Given the description of an element on the screen output the (x, y) to click on. 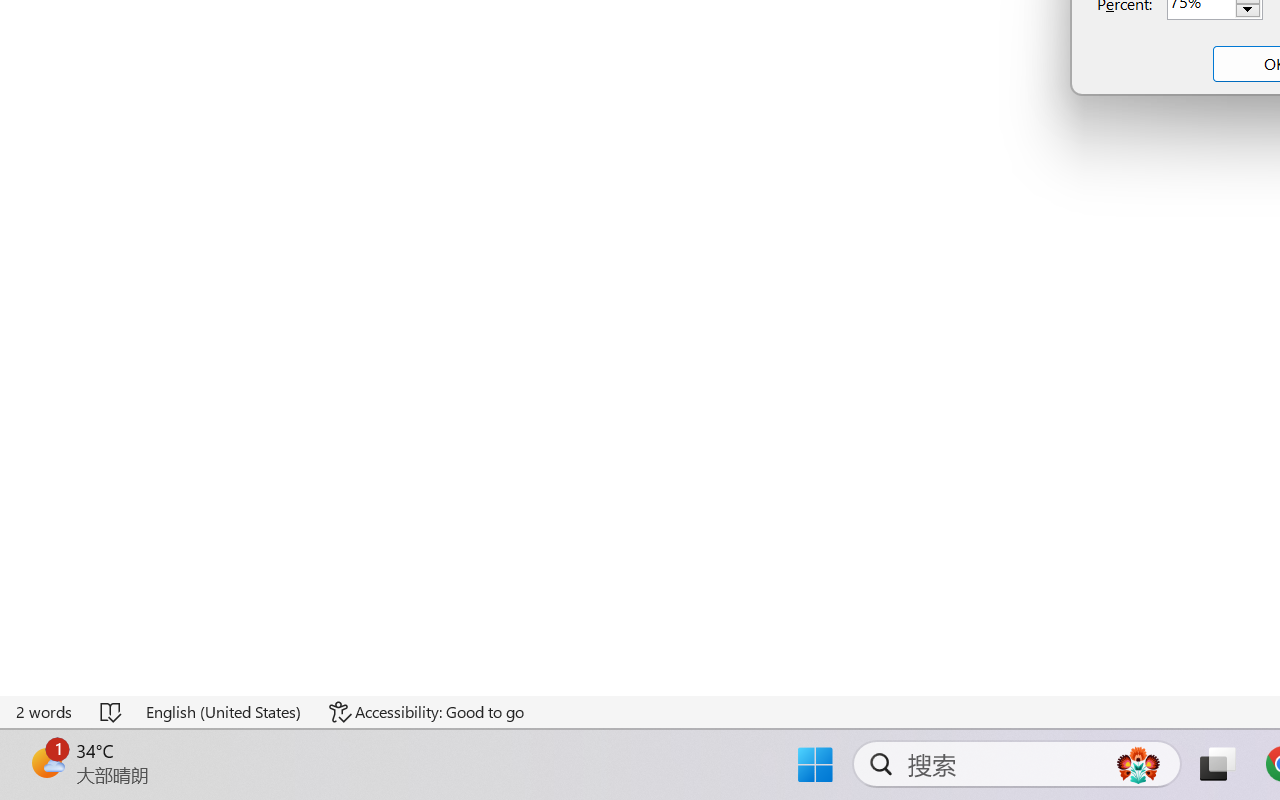
AutomationID: DynamicSearchBoxGleamImage (1138, 764)
Word Count 2 words (45, 712)
AutomationID: BadgeAnchorLargeTicker (46, 762)
Accessibility Checker Accessibility: Good to go (426, 712)
Language English (United States) (224, 712)
Spelling and Grammar Check No Errors (112, 712)
